Given the description of an element on the screen output the (x, y) to click on. 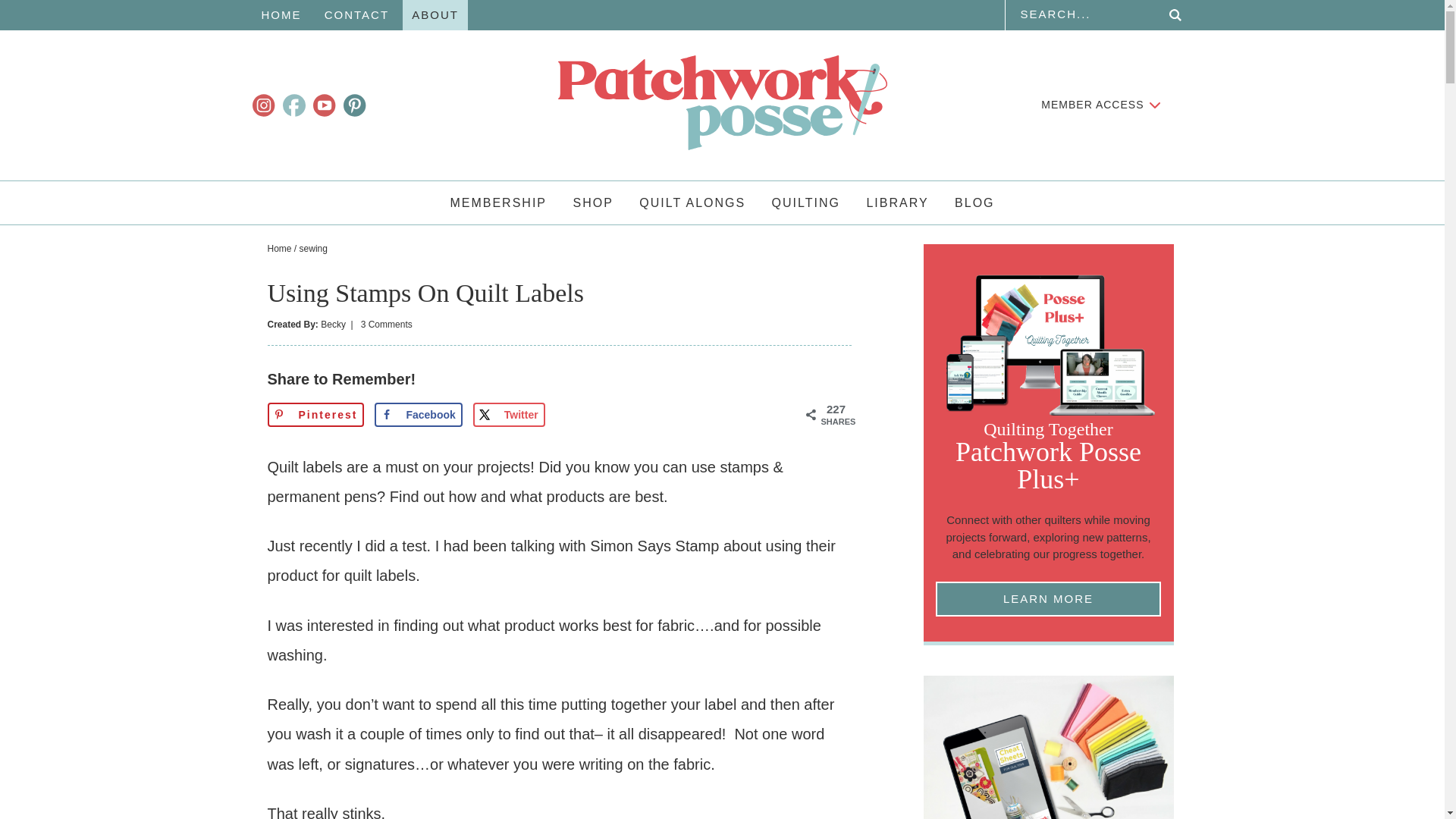
Share on X (508, 414)
ABOUT (435, 15)
CONTACT (356, 15)
PATCHWORK POSSE (721, 102)
Share on Facebook (417, 414)
Save to Pinterest (315, 414)
HOME (280, 15)
